Given the description of an element on the screen output the (x, y) to click on. 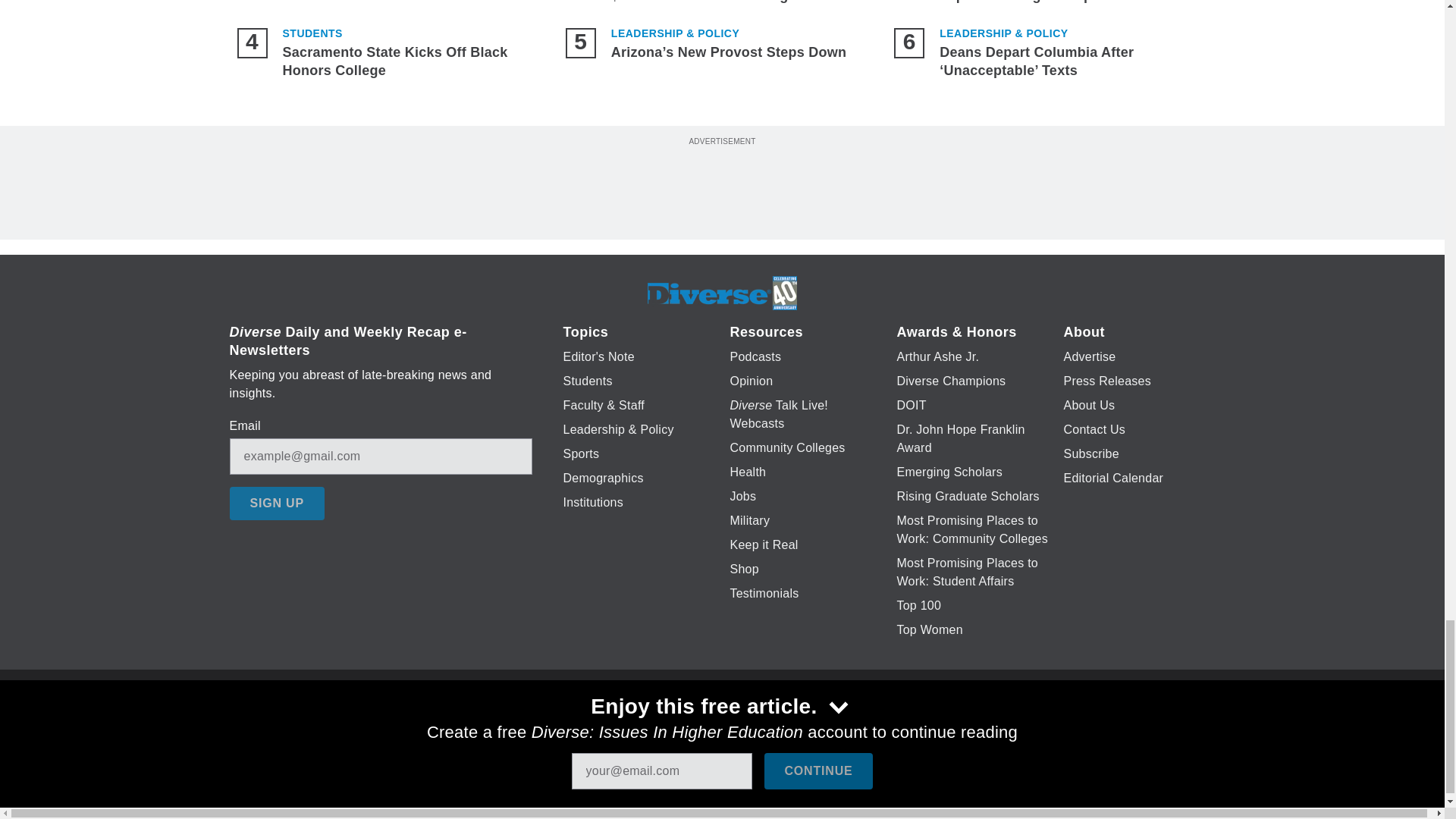
Facebook icon (635, 727)
YouTube icon (757, 727)
Twitter X icon (674, 727)
Instagram icon (796, 727)
LinkedIn icon (718, 727)
